Given the description of an element on the screen output the (x, y) to click on. 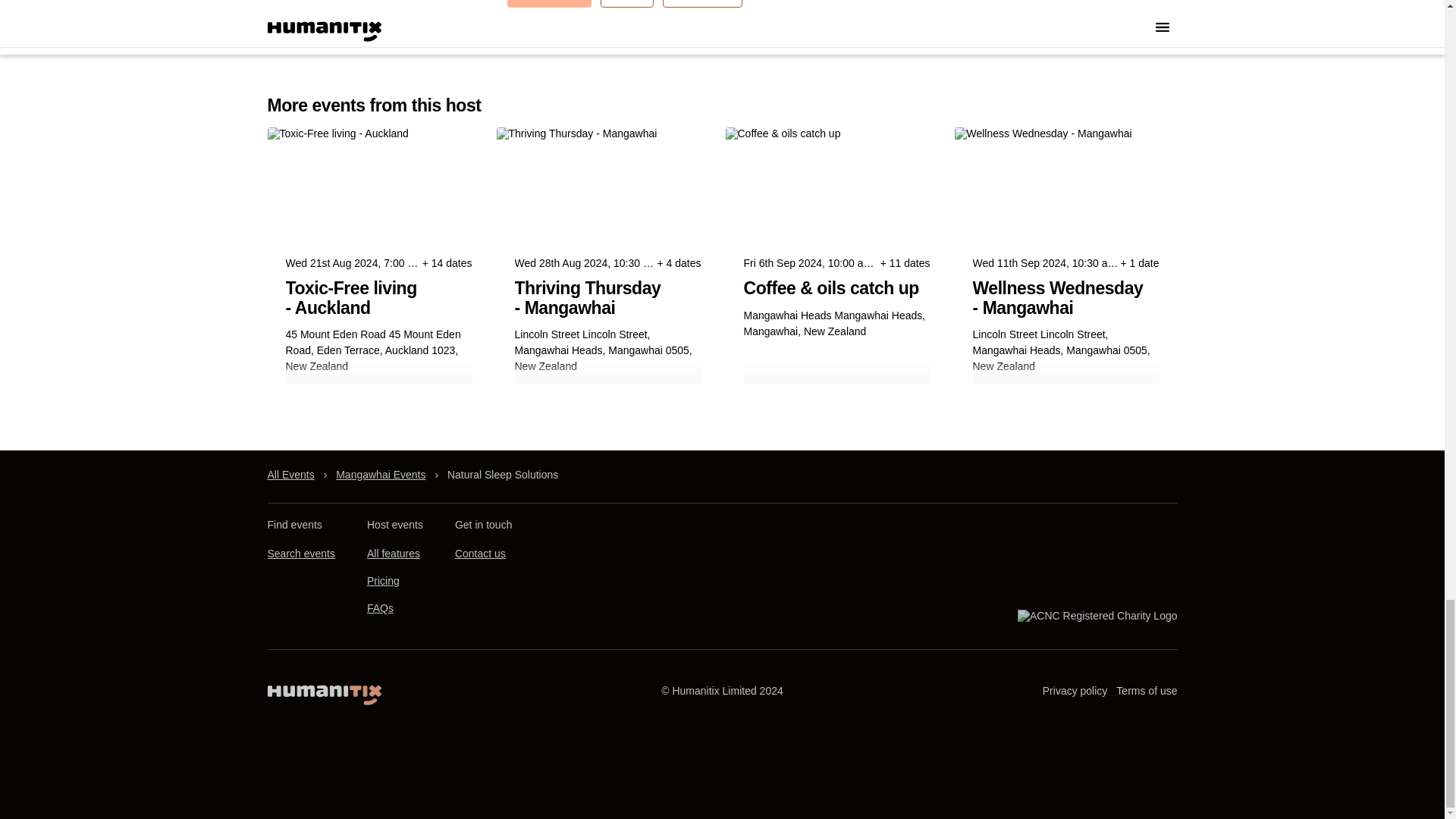
Contact host (548, 3)
Mangawhai Events (380, 474)
Follow (626, 3)
View profile (701, 3)
All Events (290, 474)
